Given the description of an element on the screen output the (x, y) to click on. 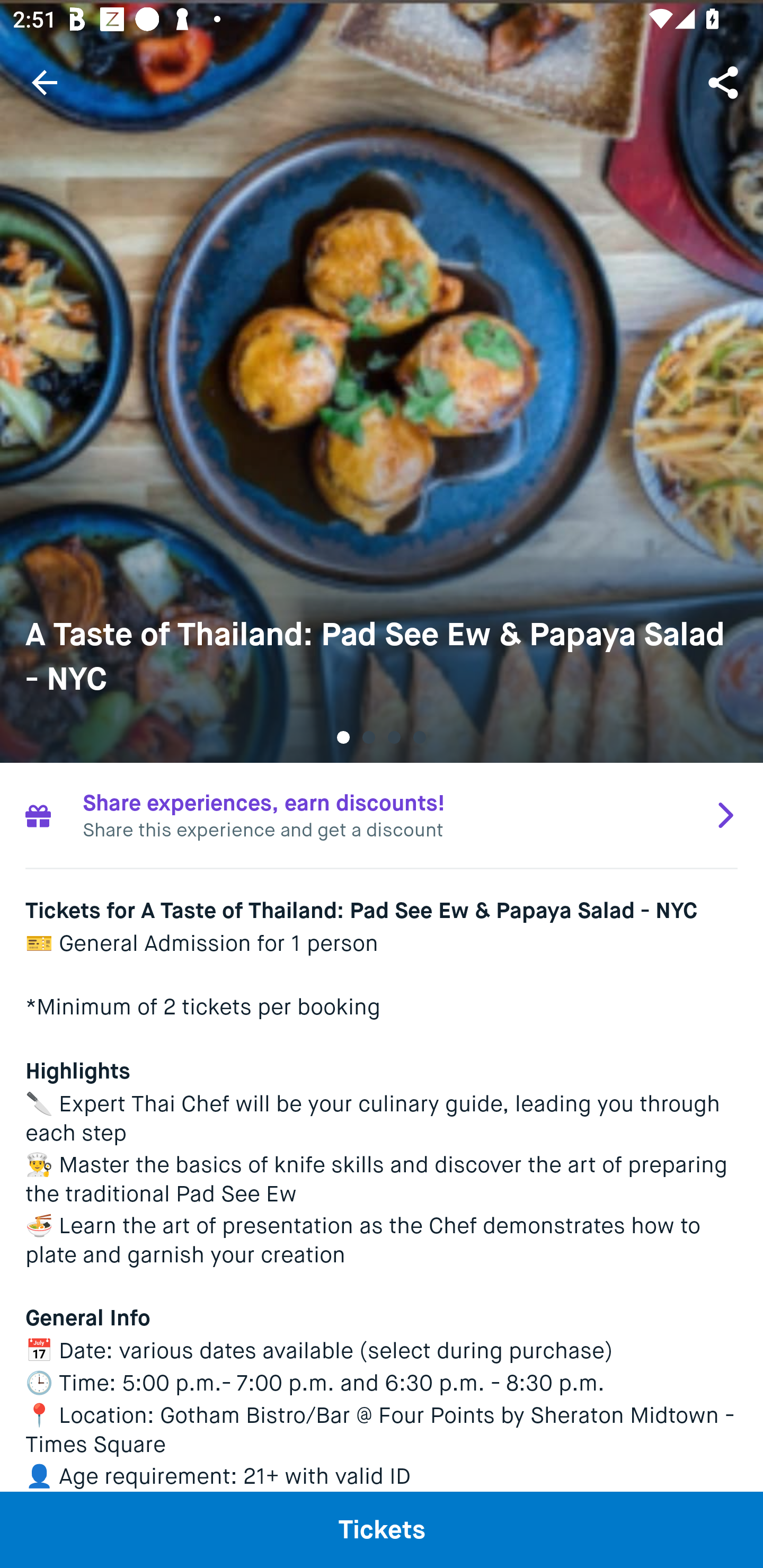
Navigate up (44, 82)
Share (724, 81)
Tickets (381, 1529)
